Given the description of an element on the screen output the (x, y) to click on. 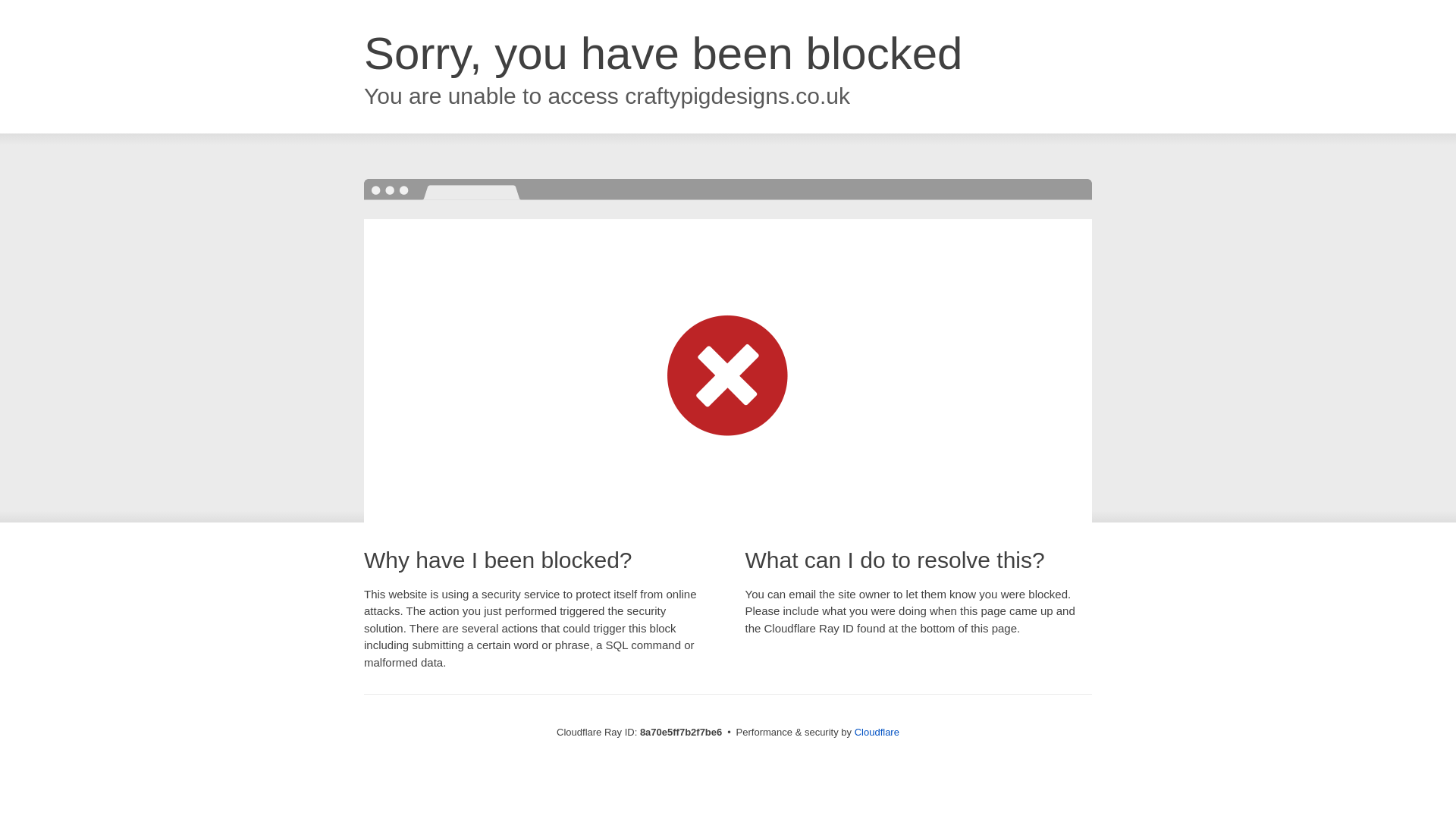
Cloudflare (876, 731)
